Given the description of an element on the screen output the (x, y) to click on. 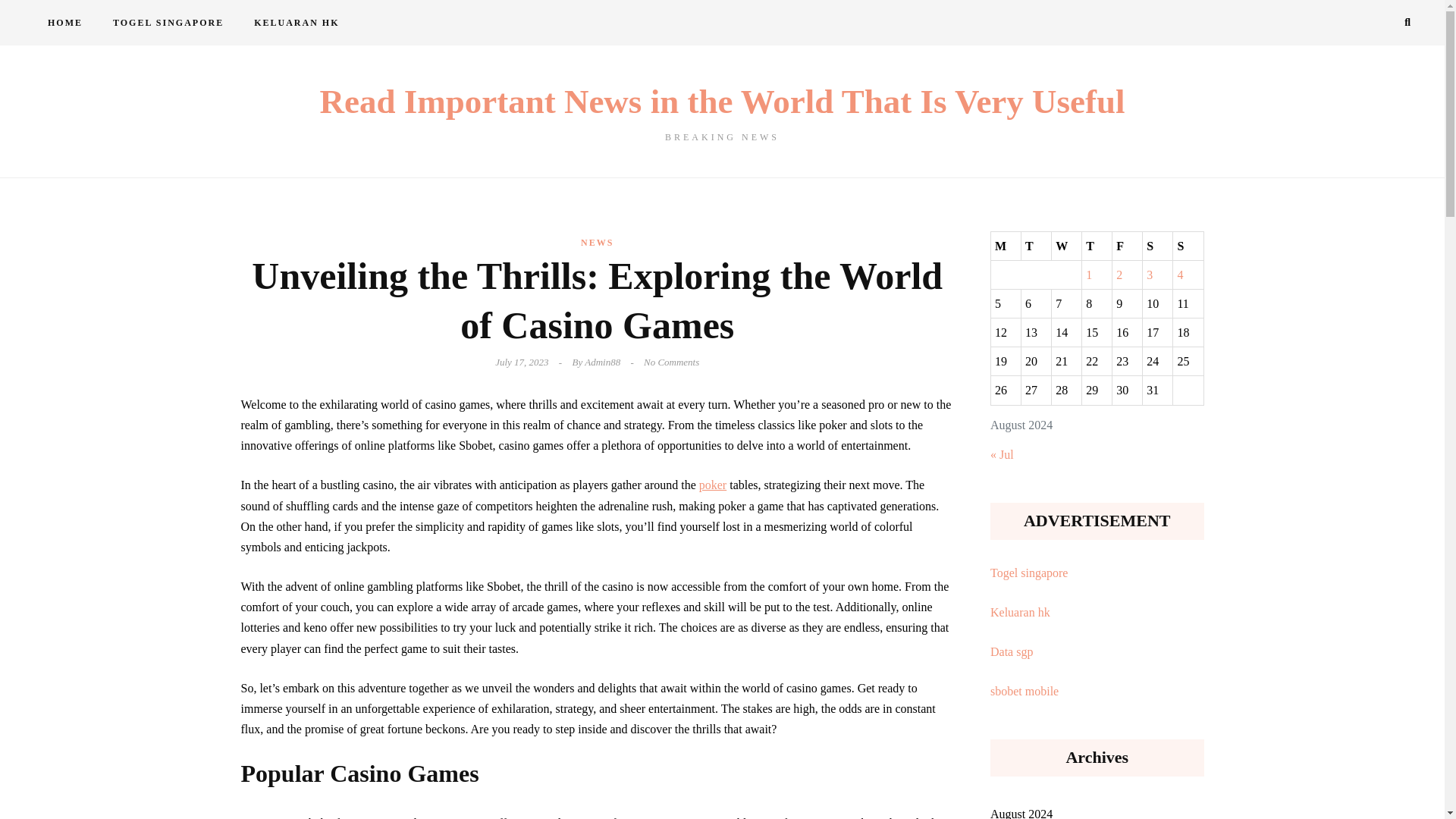
Wednesday (1066, 245)
Thursday (1096, 245)
KELUARAN HK (296, 22)
HOME (64, 22)
Sunday (1188, 245)
August 2024 (1021, 809)
Saturday (1157, 245)
Monday (1005, 245)
Keluaran hk (1019, 612)
sbobet mobile (1024, 690)
Data sgp (1011, 651)
Tuesday (1036, 245)
poker (712, 484)
Togel singapore (1028, 572)
